Given the description of an element on the screen output the (x, y) to click on. 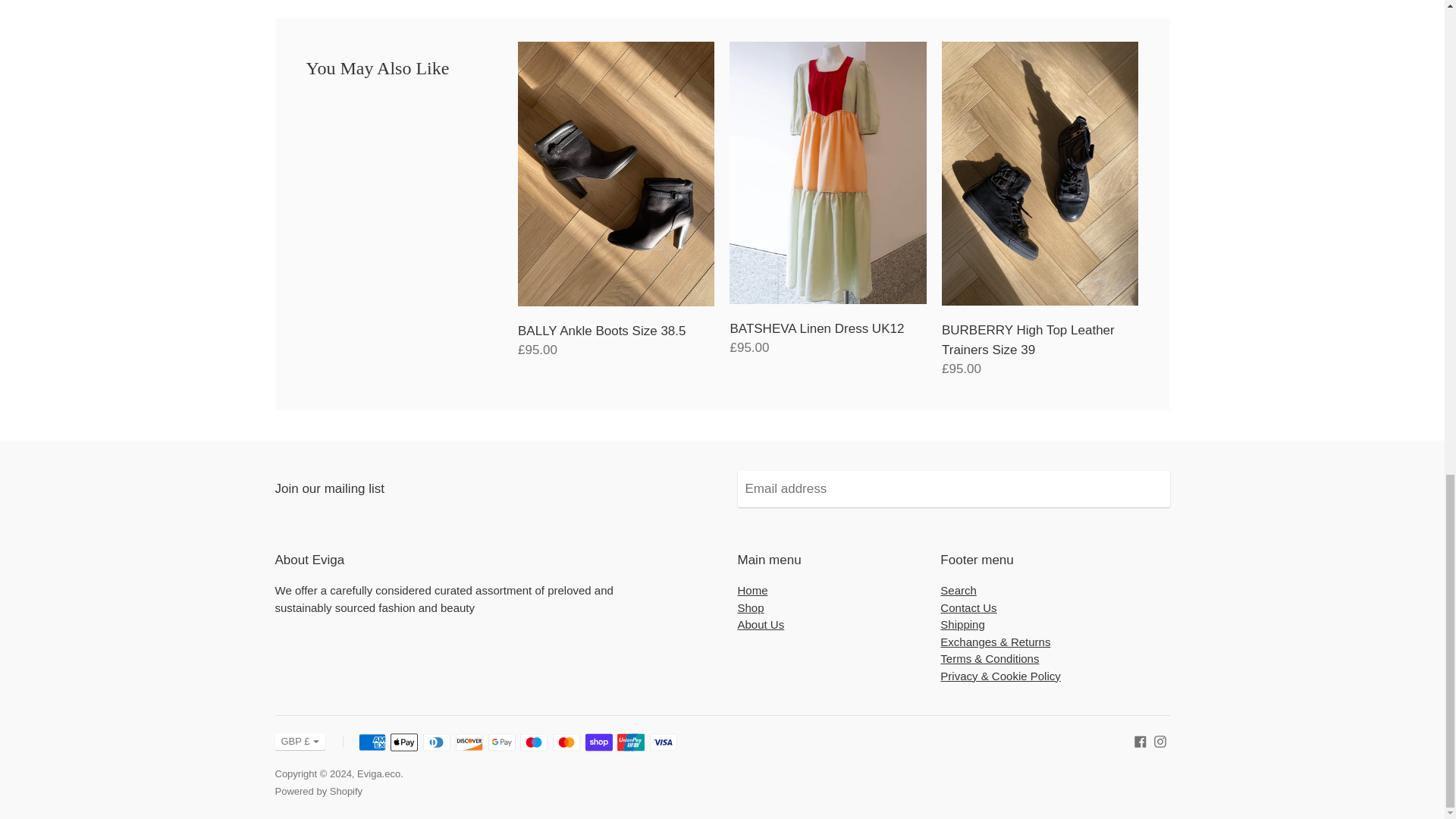
Maestro (533, 742)
Visa (663, 742)
Google Pay (501, 742)
Diners Club (436, 742)
American Express (371, 742)
Mastercard (566, 742)
Shop Pay (598, 742)
Discover (469, 742)
Apple Pay (403, 742)
Union Pay (631, 742)
